Given the description of an element on the screen output the (x, y) to click on. 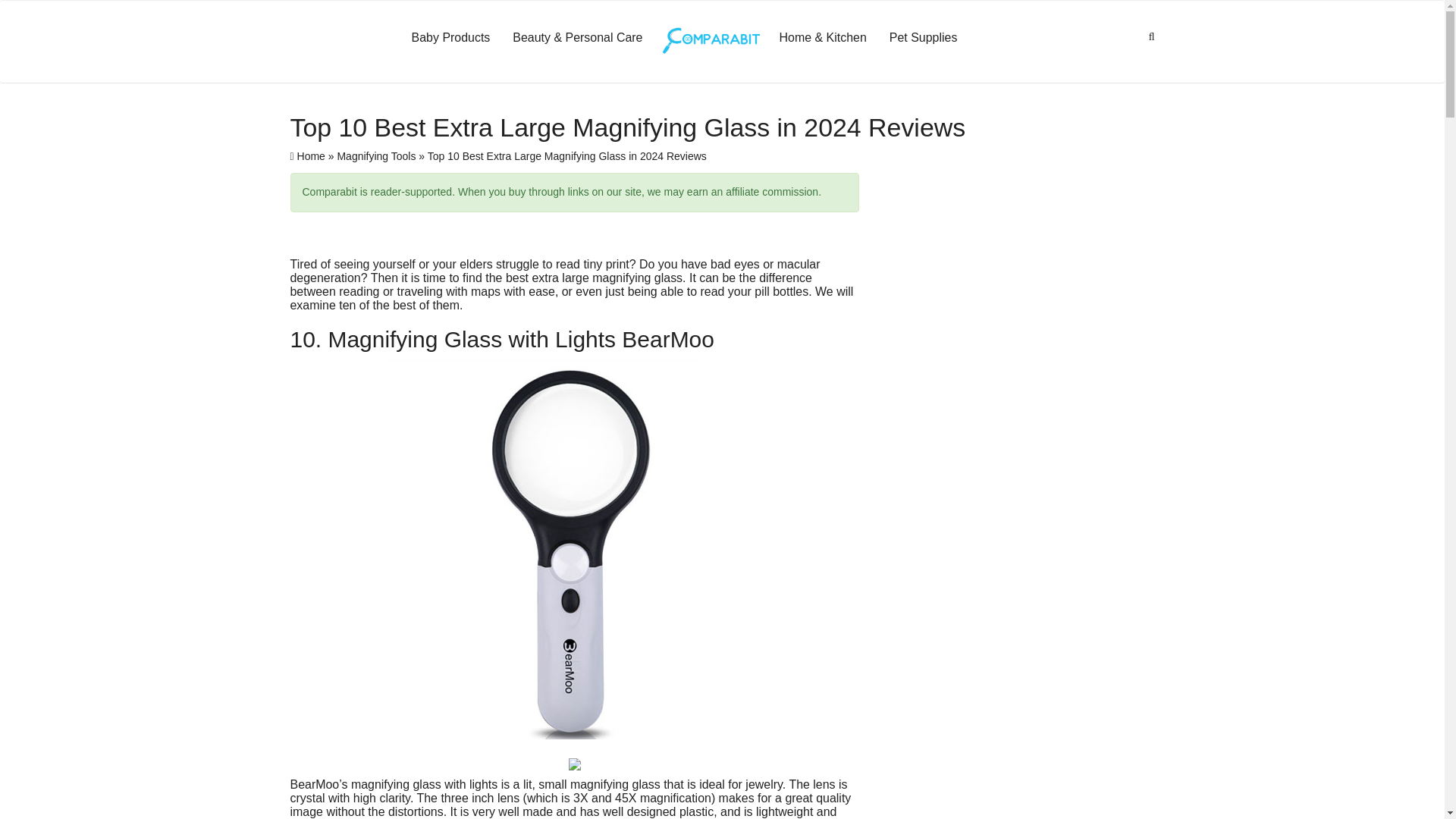
Magnifying Tools (375, 155)
Pet Supplies (923, 37)
Baby Products (451, 37)
Pet Supplies (923, 37)
Home (306, 155)
Baby Products (451, 37)
